Given the description of an element on the screen output the (x, y) to click on. 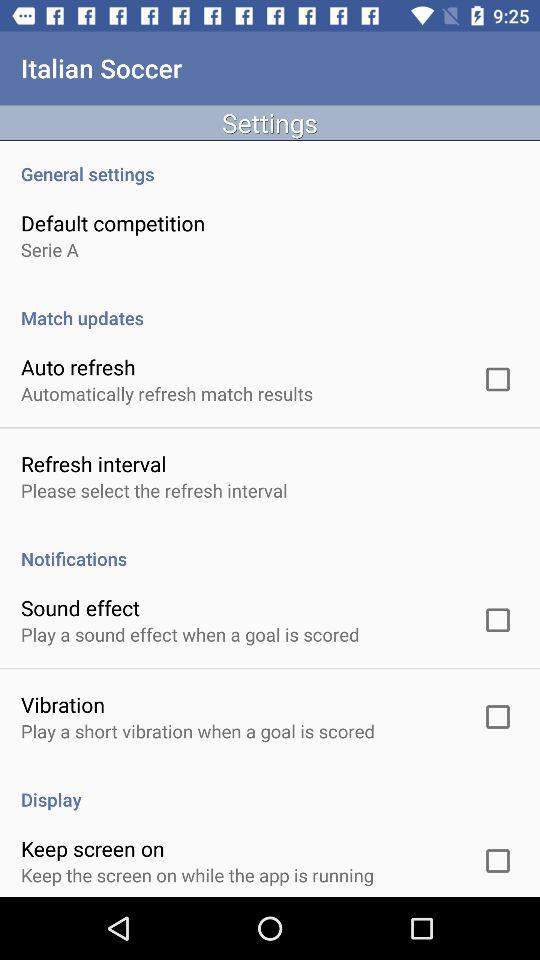
launch the general settings (270, 163)
